Given the description of an element on the screen output the (x, y) to click on. 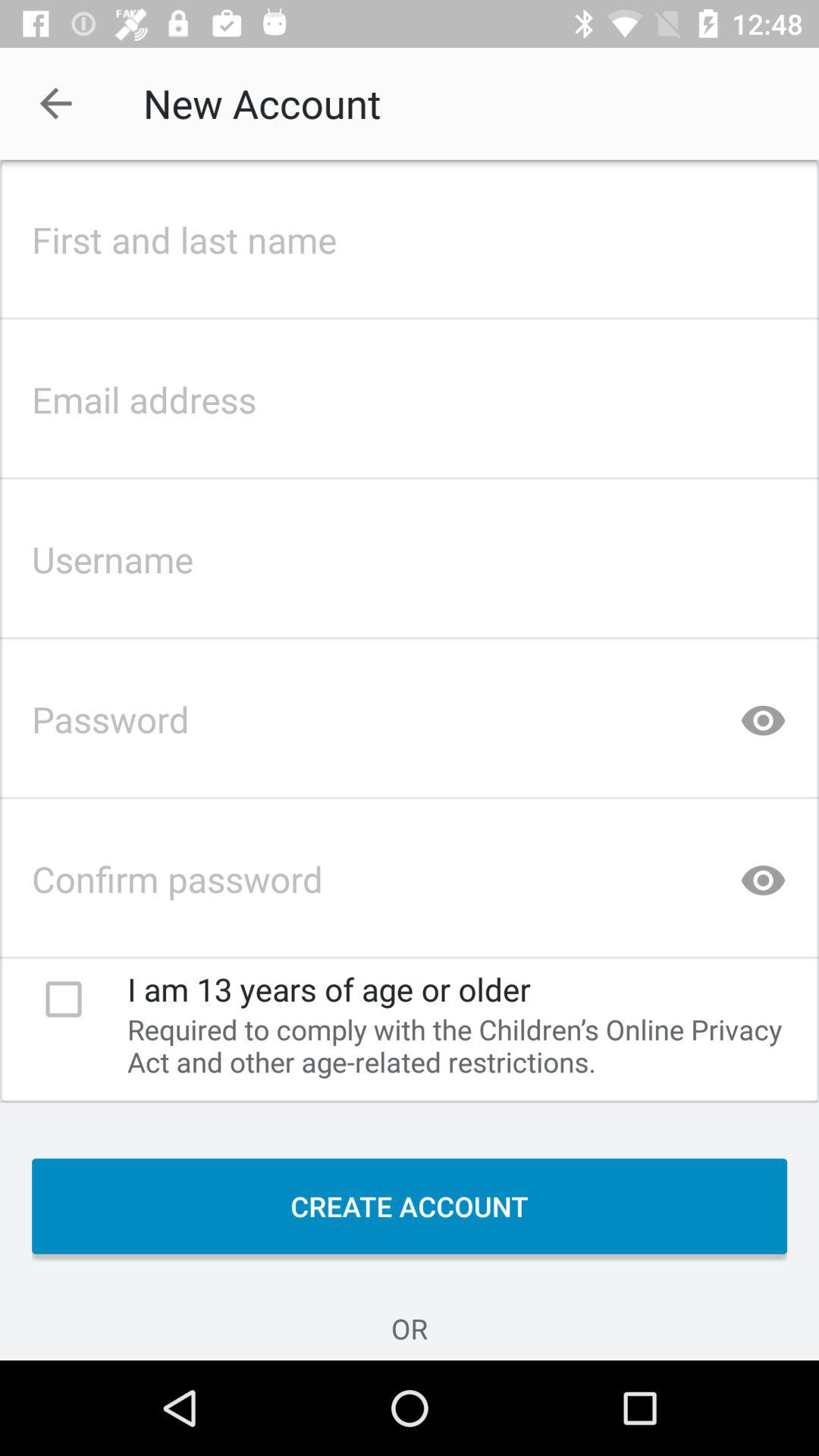
email address field (409, 395)
